Given the description of an element on the screen output the (x, y) to click on. 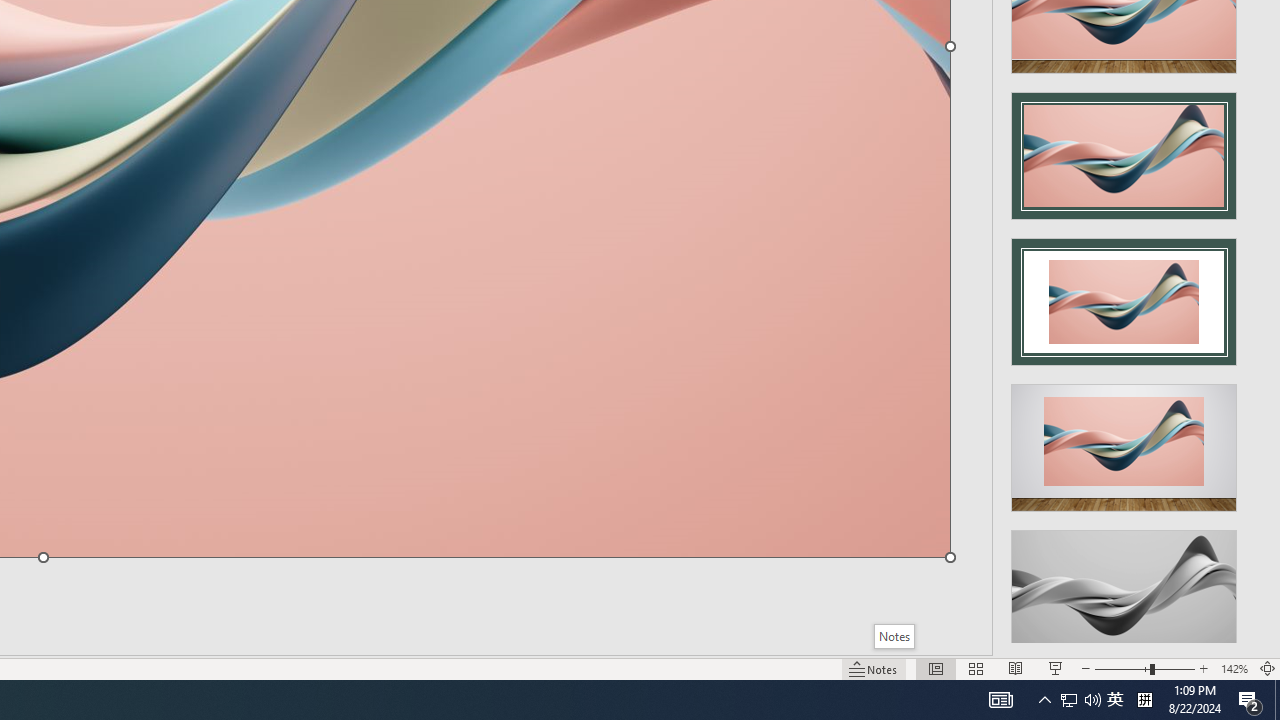
Zoom 142% (1234, 668)
Notes (894, 636)
